Given the description of an element on the screen output the (x, y) to click on. 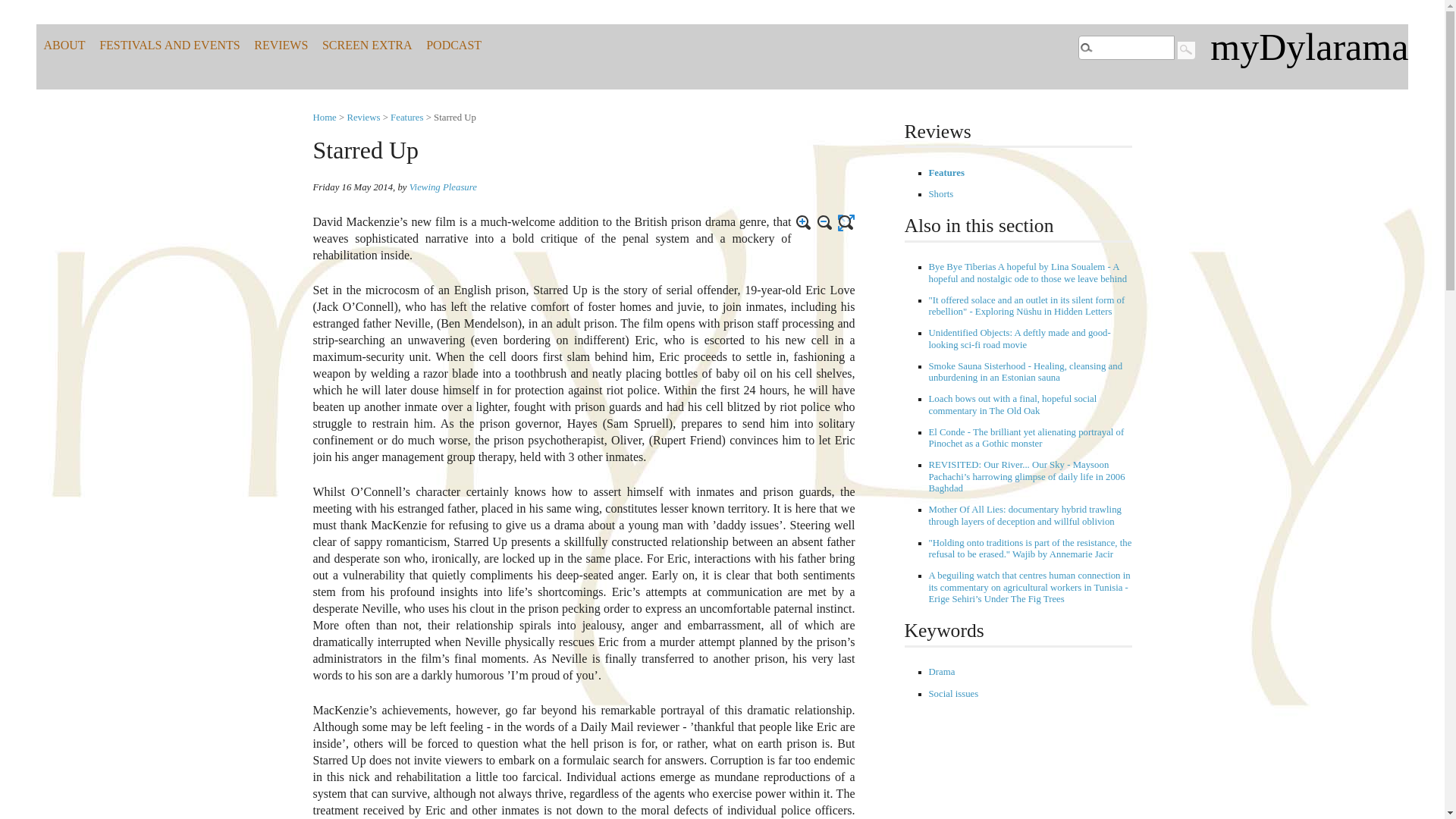
Reviews (363, 117)
Text only (846, 222)
Features (945, 172)
myDylarama (1308, 46)
Shorts (940, 194)
